Given the description of an element on the screen output the (x, y) to click on. 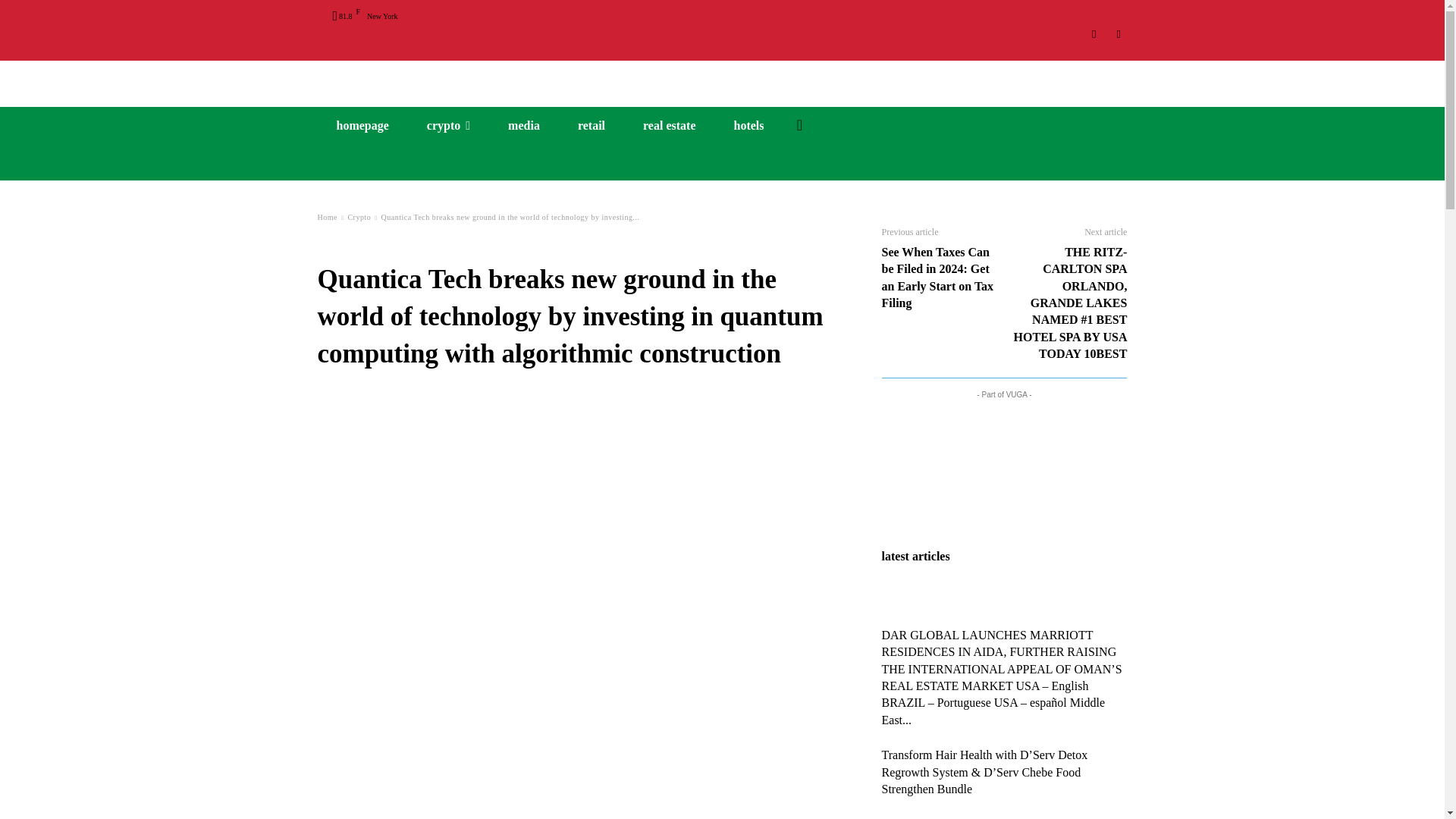
media (524, 125)
real estate (669, 125)
homepage (362, 125)
crypto (448, 125)
hotels (748, 125)
Instagram (1094, 34)
Delta Quattro (721, 77)
retail (591, 125)
Facebook (1117, 34)
Delta Quattro (721, 77)
